Given the description of an element on the screen output the (x, y) to click on. 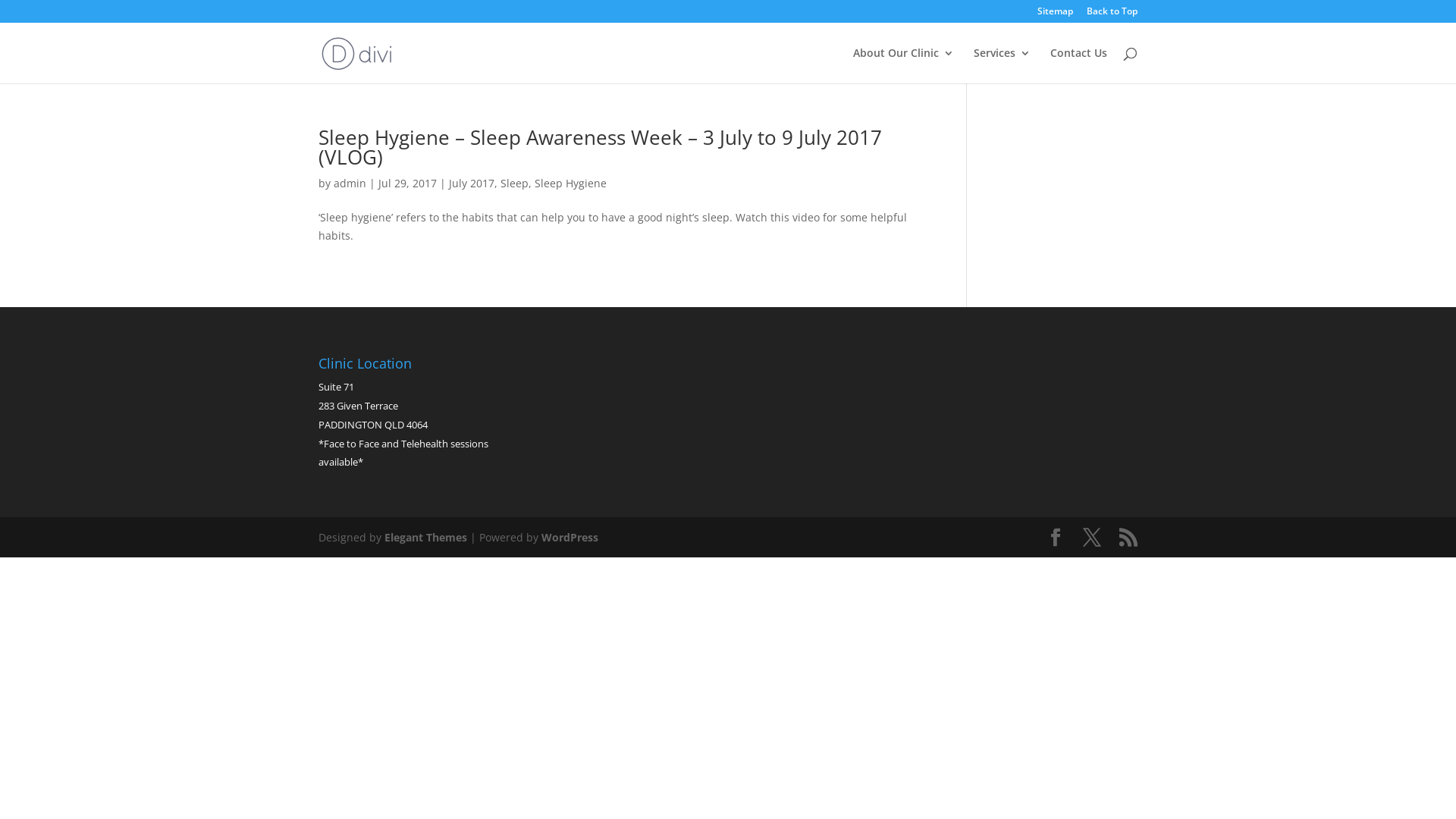
About Our Clinic Element type: text (903, 65)
July 2017 Element type: text (471, 182)
Sleep Element type: text (514, 182)
Back to Top Element type: text (1111, 14)
Contact Us Element type: text (1078, 65)
Sleep Hygiene Element type: text (570, 182)
Sitemap Element type: text (1055, 14)
Elegant Themes Element type: text (425, 537)
WordPress Element type: text (569, 537)
Services Element type: text (1001, 65)
admin Element type: text (349, 182)
